Given the description of an element on the screen output the (x, y) to click on. 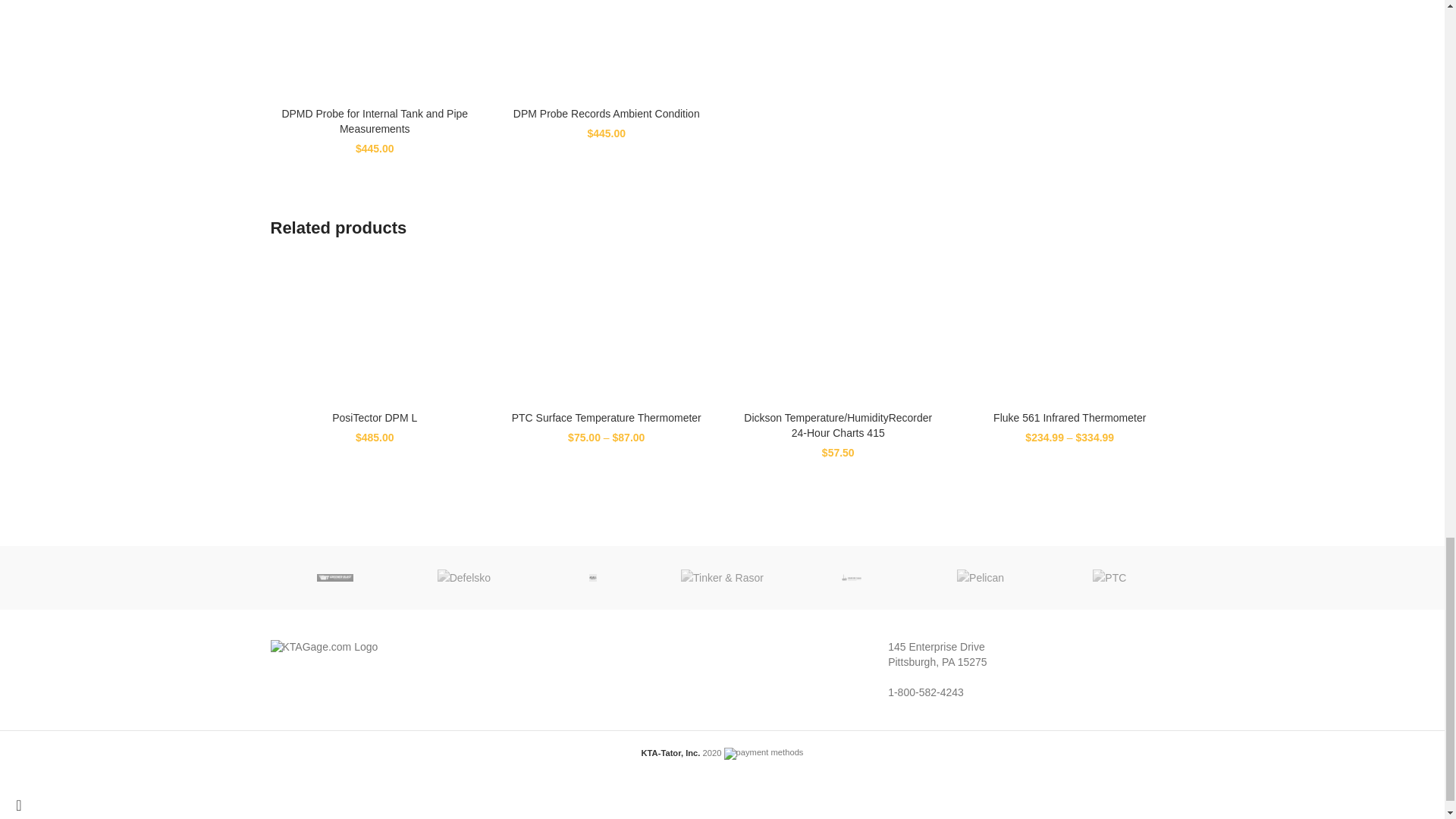
Defelsko (463, 578)
Greener Blast Technologies (333, 578)
G.A.L. Gage Co. (593, 578)
Defelsko (464, 577)
